Given the description of an element on the screen output the (x, y) to click on. 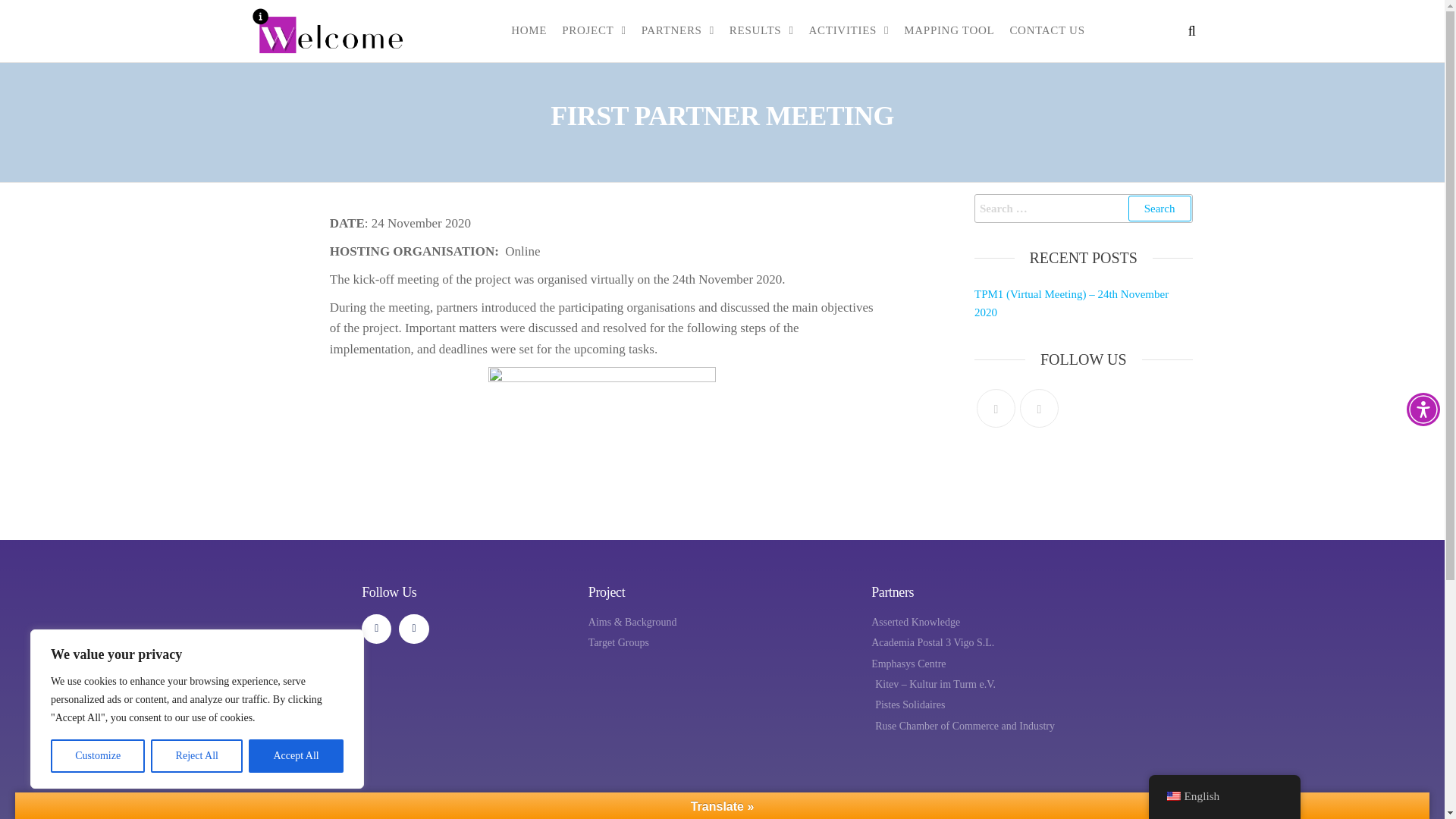
ACTIVITIES (849, 30)
Search (1159, 208)
Partners (677, 30)
Accessibility Menu (1422, 409)
Customize (97, 756)
Results (762, 30)
Reject All (197, 756)
Search (1159, 208)
PROJECT (593, 30)
Accept All (295, 756)
Project (593, 30)
PARTNERS (677, 30)
RESULTS (762, 30)
